Given the description of an element on the screen output the (x, y) to click on. 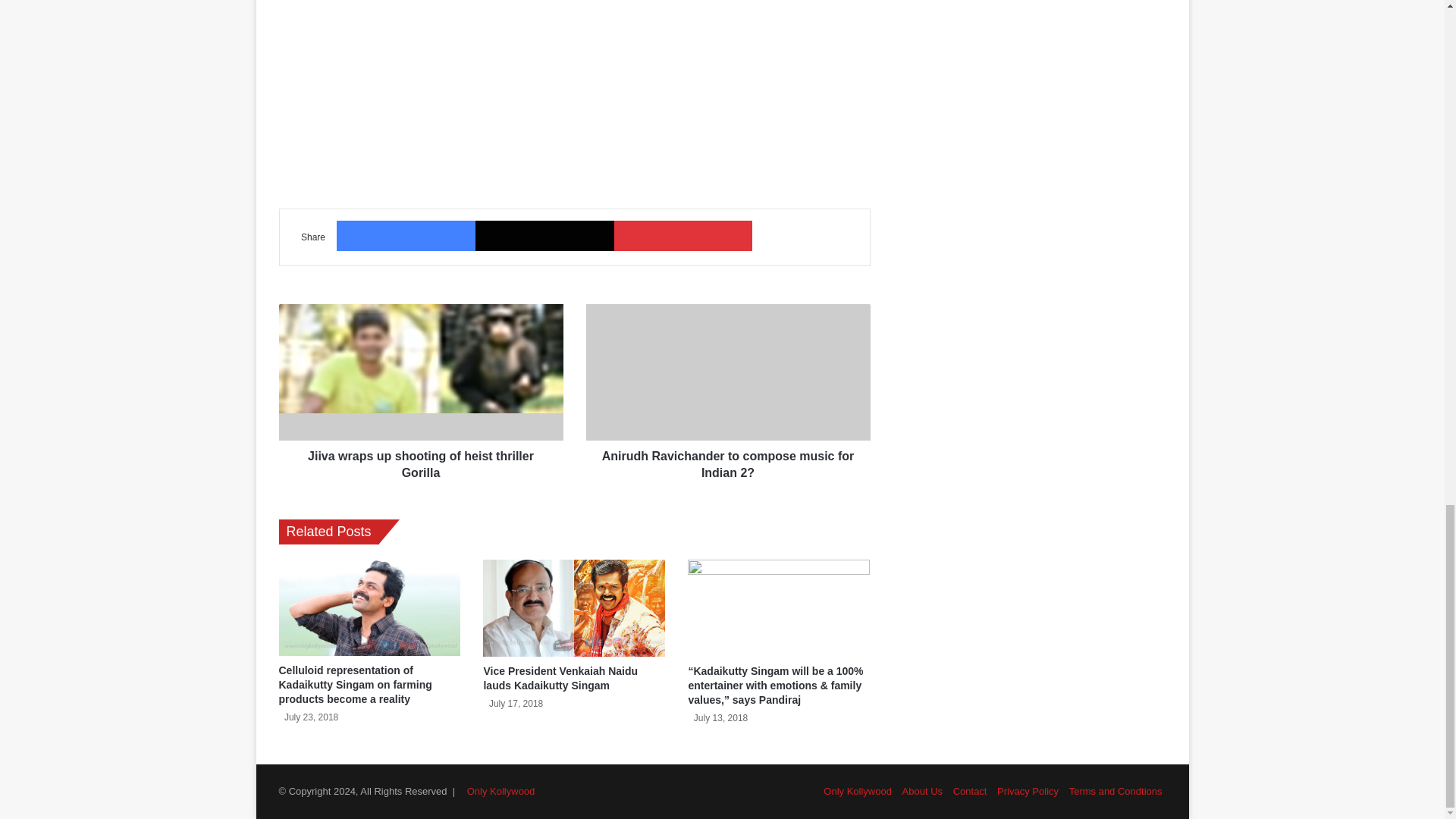
Facebook (406, 235)
Jiiva wraps up shooting of heist thriller Gorilla (421, 460)
Jiiva wraps up shooting of heist thriller Gorilla (421, 371)
